Given the description of an element on the screen output the (x, y) to click on. 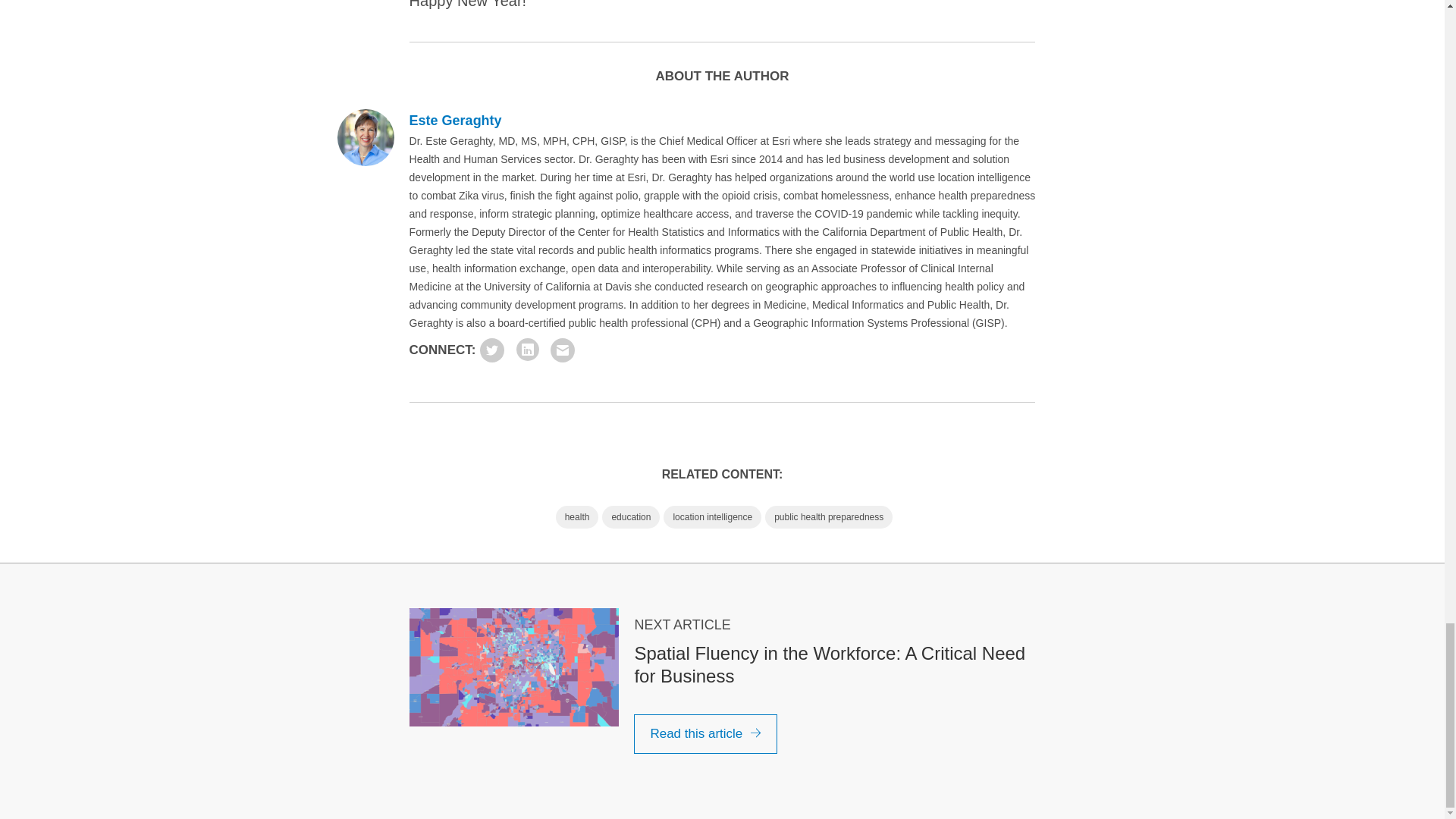
health (577, 517)
public health preparedness (828, 517)
location intelligence (712, 517)
Read this article (705, 733)
Este Geraghty (455, 120)
education (630, 517)
